Given the description of an element on the screen output the (x, y) to click on. 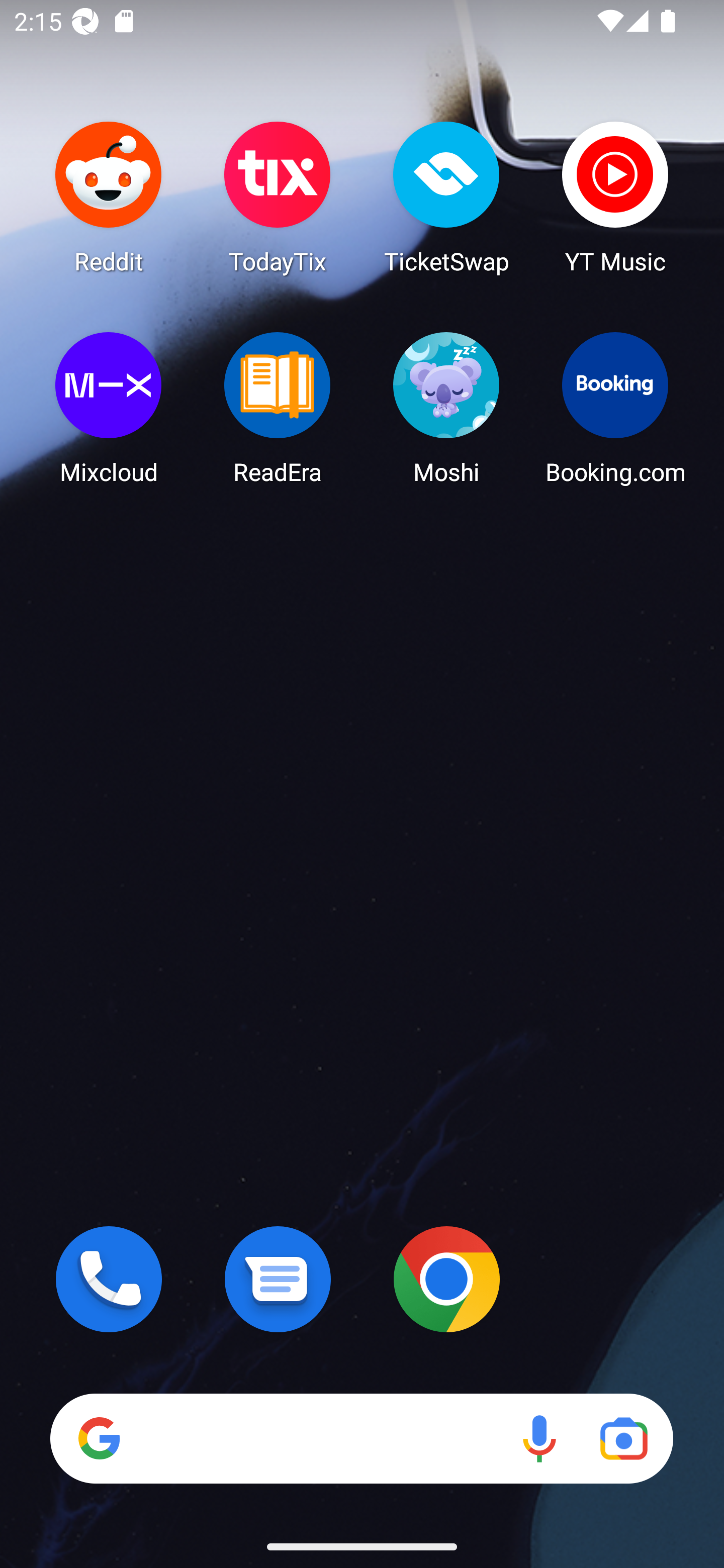
Reddit (108, 196)
TodayTix (277, 196)
TicketSwap (445, 196)
YT Music (615, 196)
Mixcloud (108, 407)
ReadEra (277, 407)
Moshi (445, 407)
Booking.com (615, 407)
Phone (108, 1279)
Messages (277, 1279)
Chrome (446, 1279)
Search Voice search Google Lens (361, 1438)
Voice search (539, 1438)
Google Lens (623, 1438)
